Given the description of an element on the screen output the (x, y) to click on. 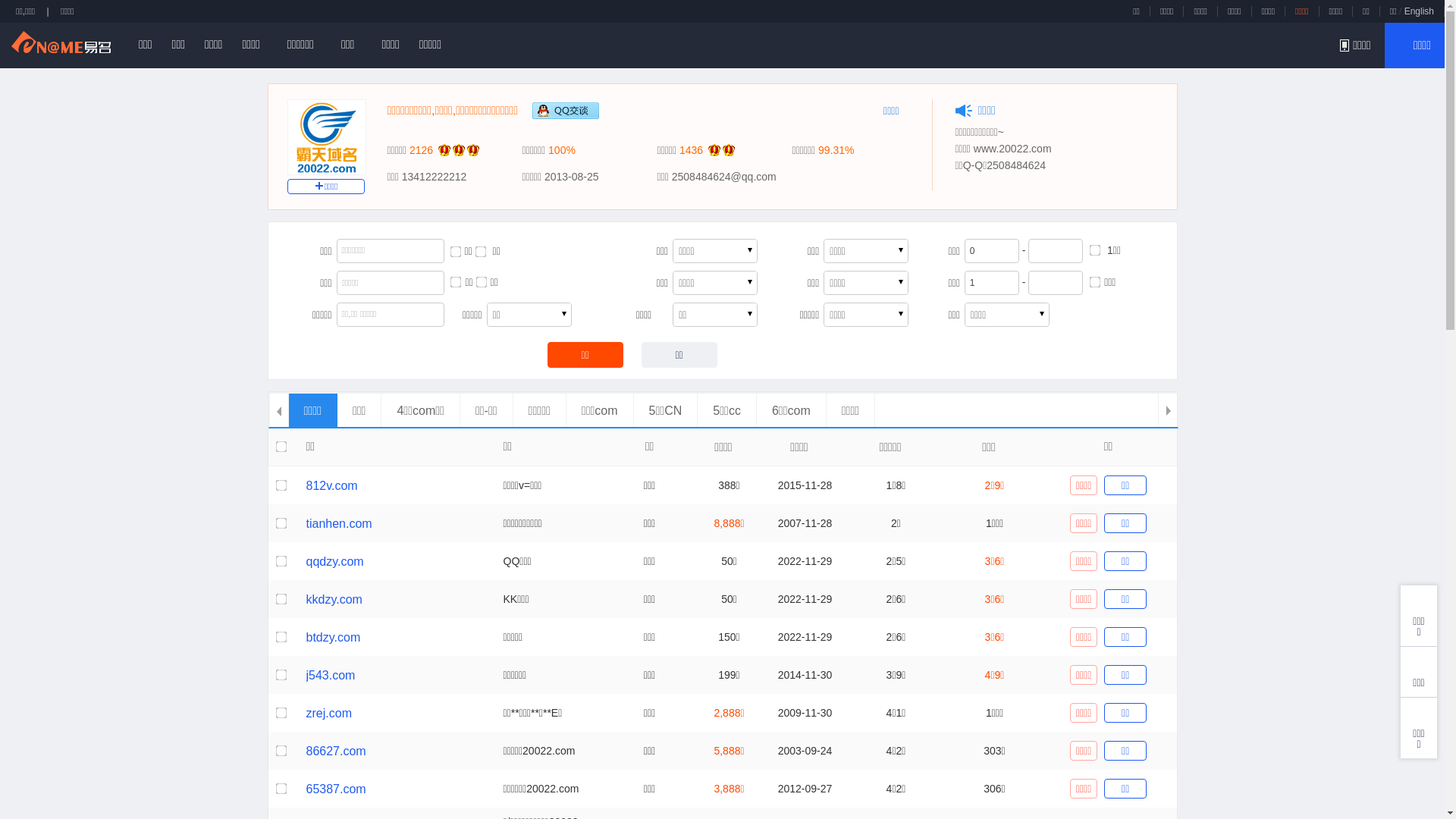
zrej.com Element type: text (328, 713)
2126 Element type: text (421, 150)
100% Element type: text (561, 150)
1436 Element type: text (690, 150)
btdzy.com Element type: text (333, 637)
86627.com Element type: text (336, 751)
99.31% Element type: text (835, 150)
65387.com Element type: text (336, 789)
English Element type: text (1419, 11)
812v.com Element type: text (331, 485)
tianhen.com Element type: text (339, 523)
qqdzy.com Element type: text (335, 561)
j543.com Element type: text (330, 675)
kkdzy.com Element type: text (334, 599)
